Given the description of an element on the screen output the (x, y) to click on. 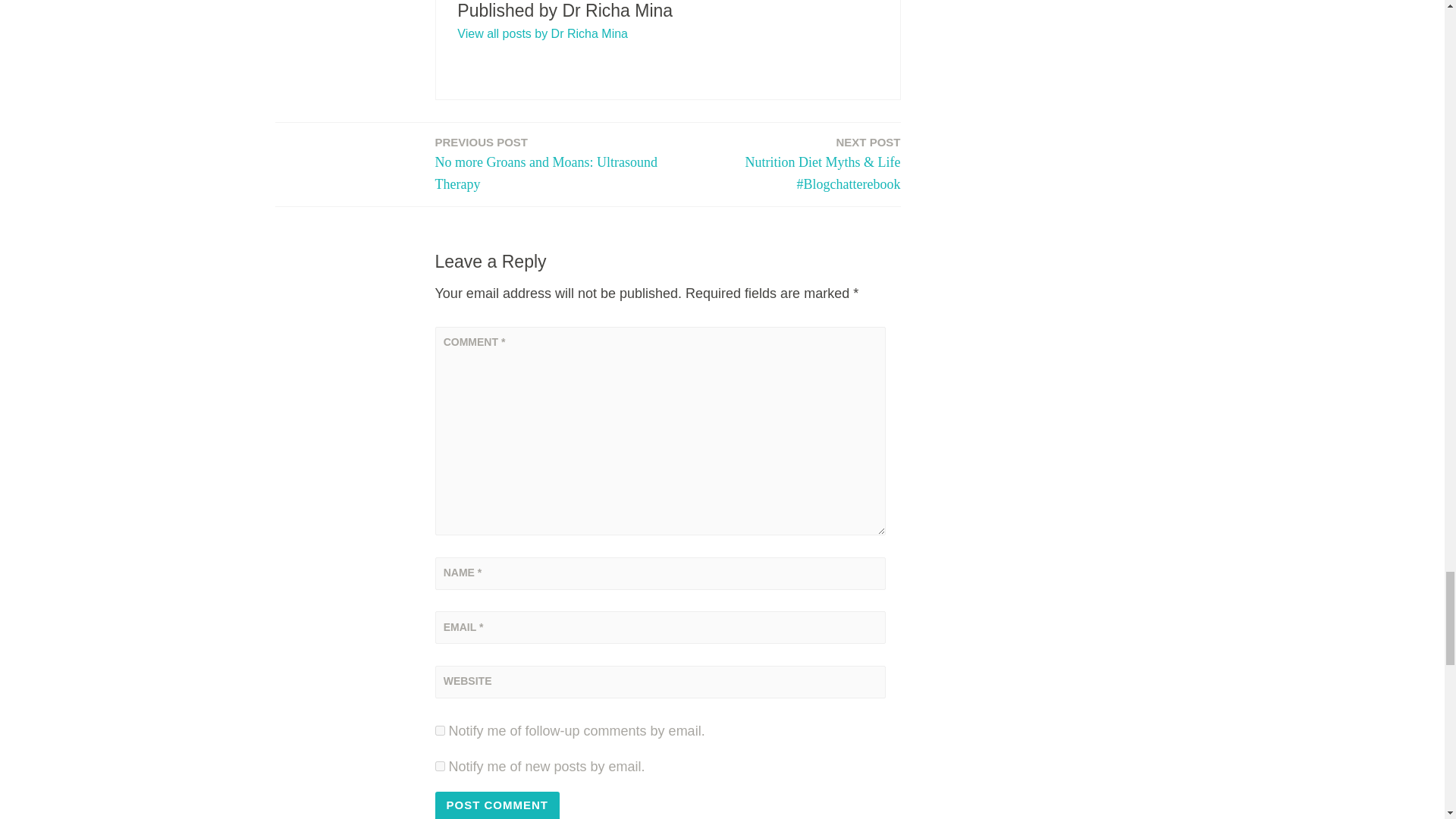
subscribe (440, 766)
subscribe (440, 730)
Post Comment (497, 805)
